Given the description of an element on the screen output the (x, y) to click on. 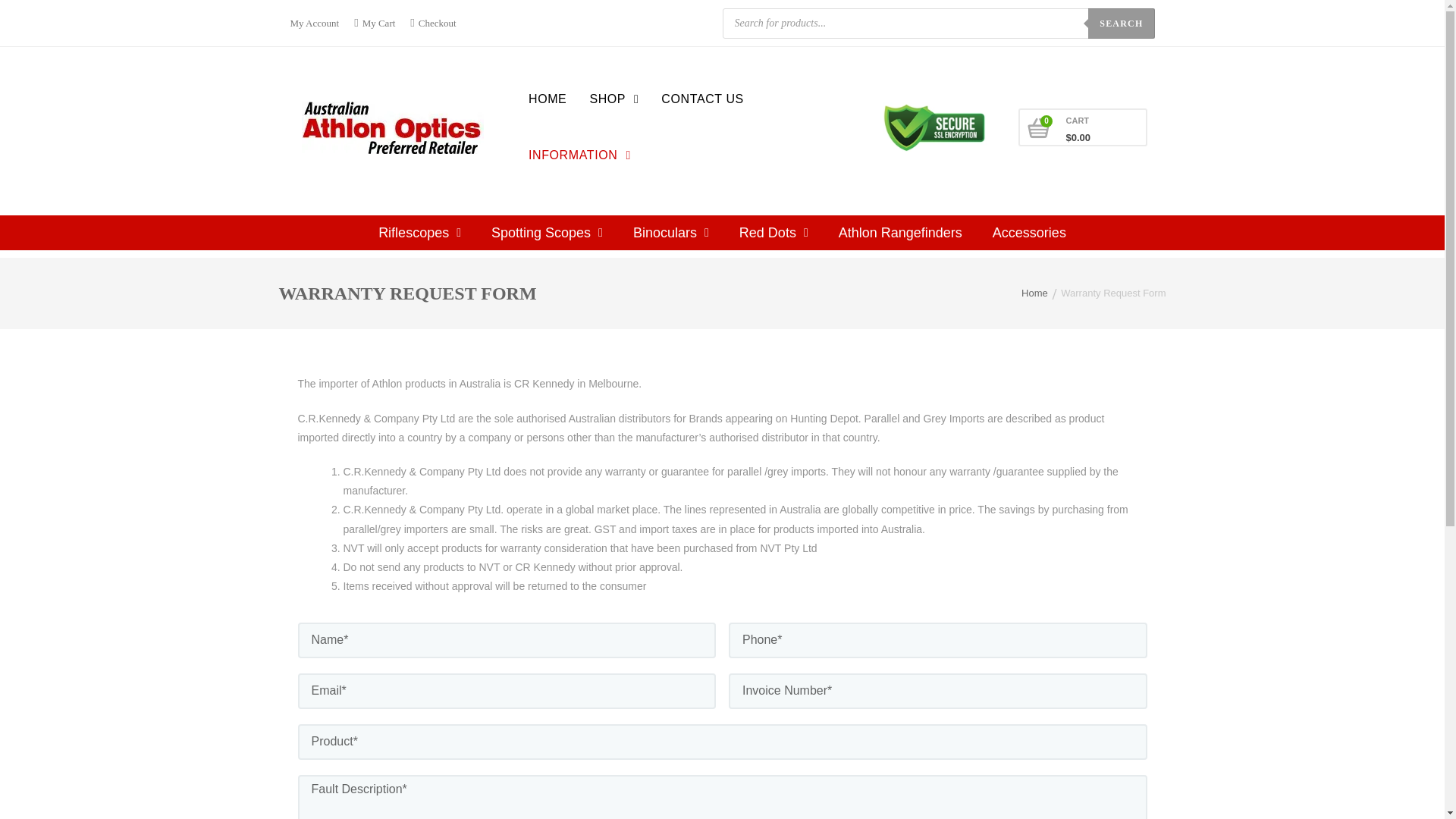
CONTACT US (702, 99)
Checkout (433, 22)
SEARCH (1120, 22)
SHOP (613, 99)
My Account (317, 22)
HOME (547, 99)
My Cart (374, 22)
